Given the description of an element on the screen output the (x, y) to click on. 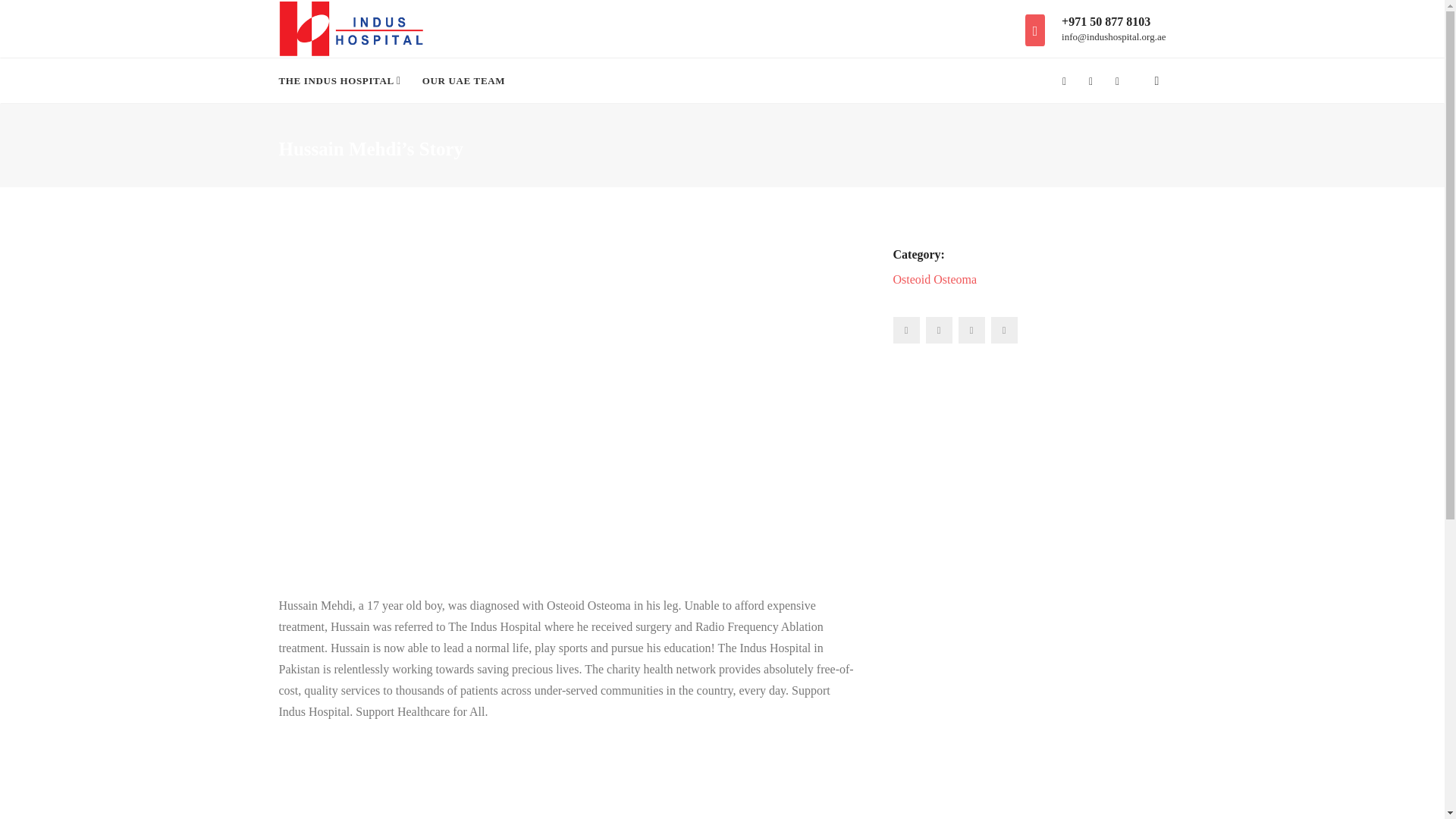
facebook (906, 329)
Our UAE Team (463, 81)
Osteoid Osteoma (934, 278)
twitter (938, 329)
OUR UAE TEAM (463, 81)
The Indus Hospital (345, 81)
THE INDUS HOSPITAL (345, 81)
